Given the description of an element on the screen output the (x, y) to click on. 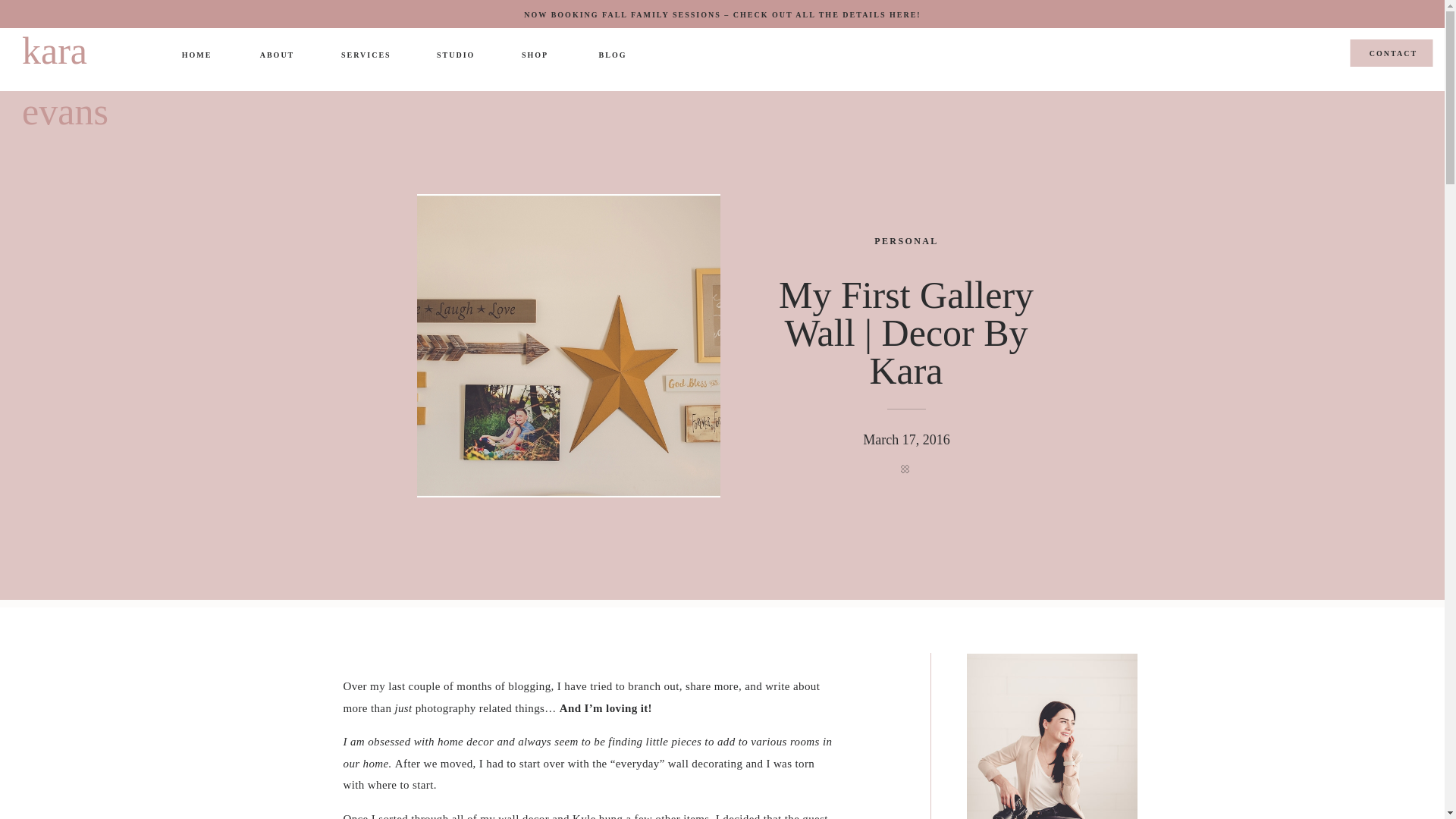
SERVICES (365, 56)
PERSONAL (907, 240)
SHOP (534, 56)
BLOG (611, 57)
ABOUT (277, 55)
CONTACT (1394, 56)
kara evans (89, 49)
STUDIO (454, 56)
HOME (196, 56)
